Given the description of an element on the screen output the (x, y) to click on. 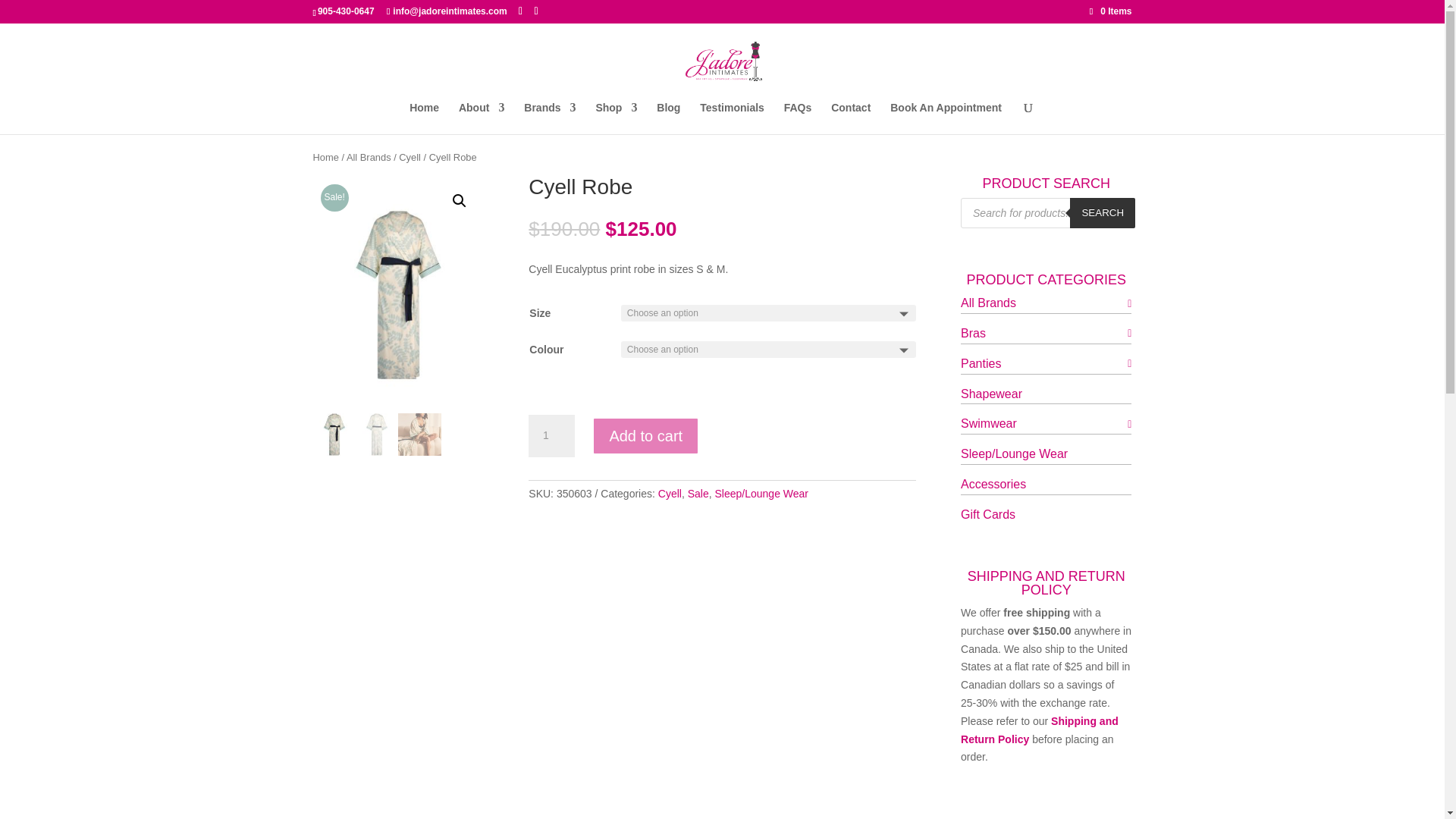
Shop (616, 118)
About (480, 118)
Brands (549, 118)
0 Items (1110, 10)
Home (424, 118)
1 (550, 435)
